Given the description of an element on the screen output the (x, y) to click on. 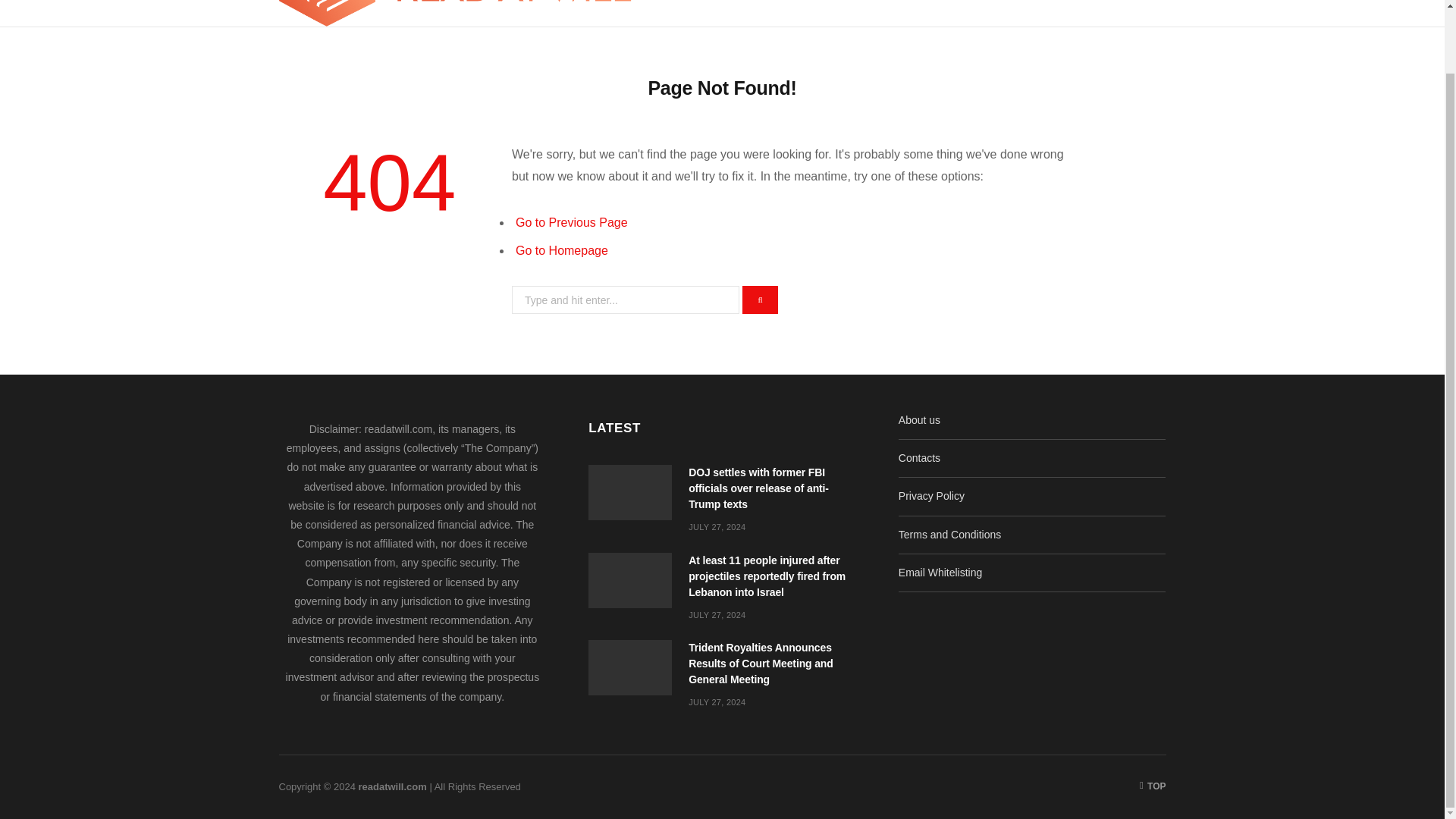
POLITICS (705, 13)
Read At Will (455, 13)
TOP (1153, 786)
Contacts (919, 458)
INVESTING (926, 13)
About us (919, 419)
Privacy Policy (930, 495)
Go to Previous Page (571, 222)
Terms and Conditions (949, 534)
WORLD (852, 13)
